Given the description of an element on the screen output the (x, y) to click on. 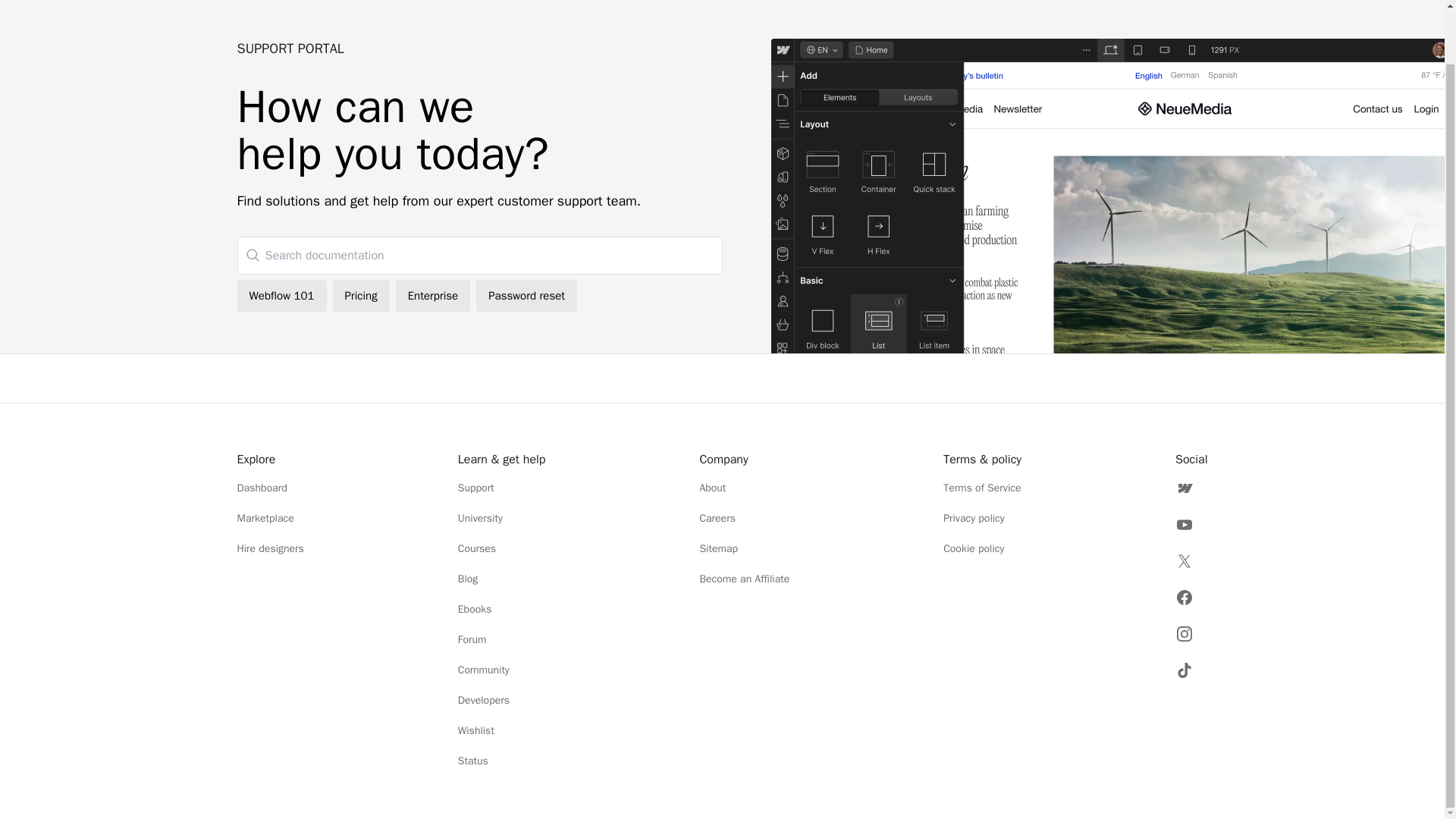
Status (502, 761)
Forum (502, 639)
Courses (502, 548)
About (743, 488)
Cookie policy (982, 548)
Password reset (526, 296)
Community (502, 669)
Privacy policy (982, 518)
Marketplace (268, 518)
Dashboard (268, 488)
